Given the description of an element on the screen output the (x, y) to click on. 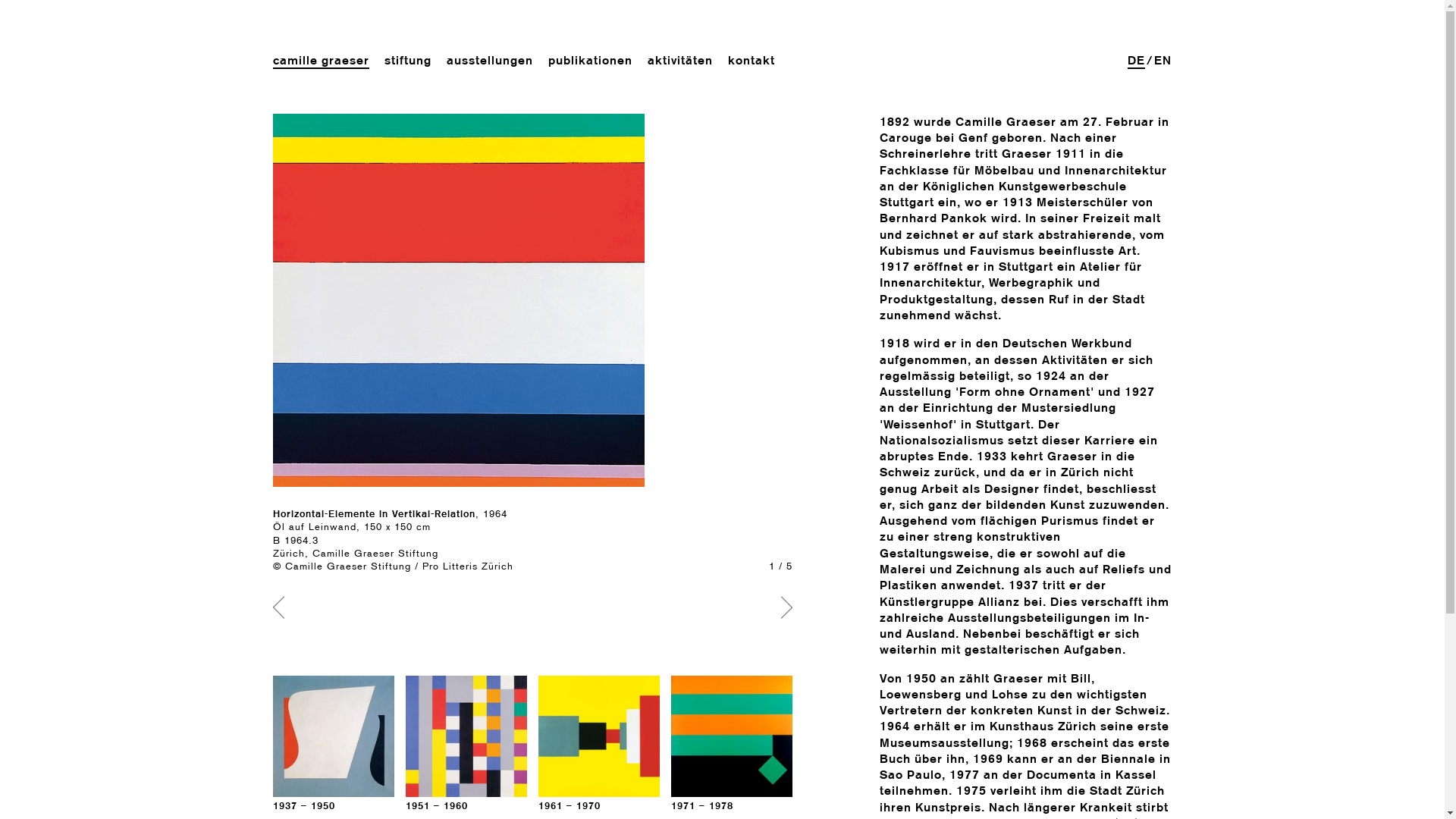
kontakt Element type: text (751, 60)
/ Element type: text (1149, 60)
Next Slide Element type: text (782, 607)
Previous Slide Element type: text (282, 607)
DE Element type: text (1136, 61)
publikationen Element type: text (590, 60)
stiftung Element type: text (407, 60)
ausstellungen Element type: text (489, 60)
EN Element type: text (1162, 60)
camille graeser Element type: text (321, 61)
